Given the description of an element on the screen output the (x, y) to click on. 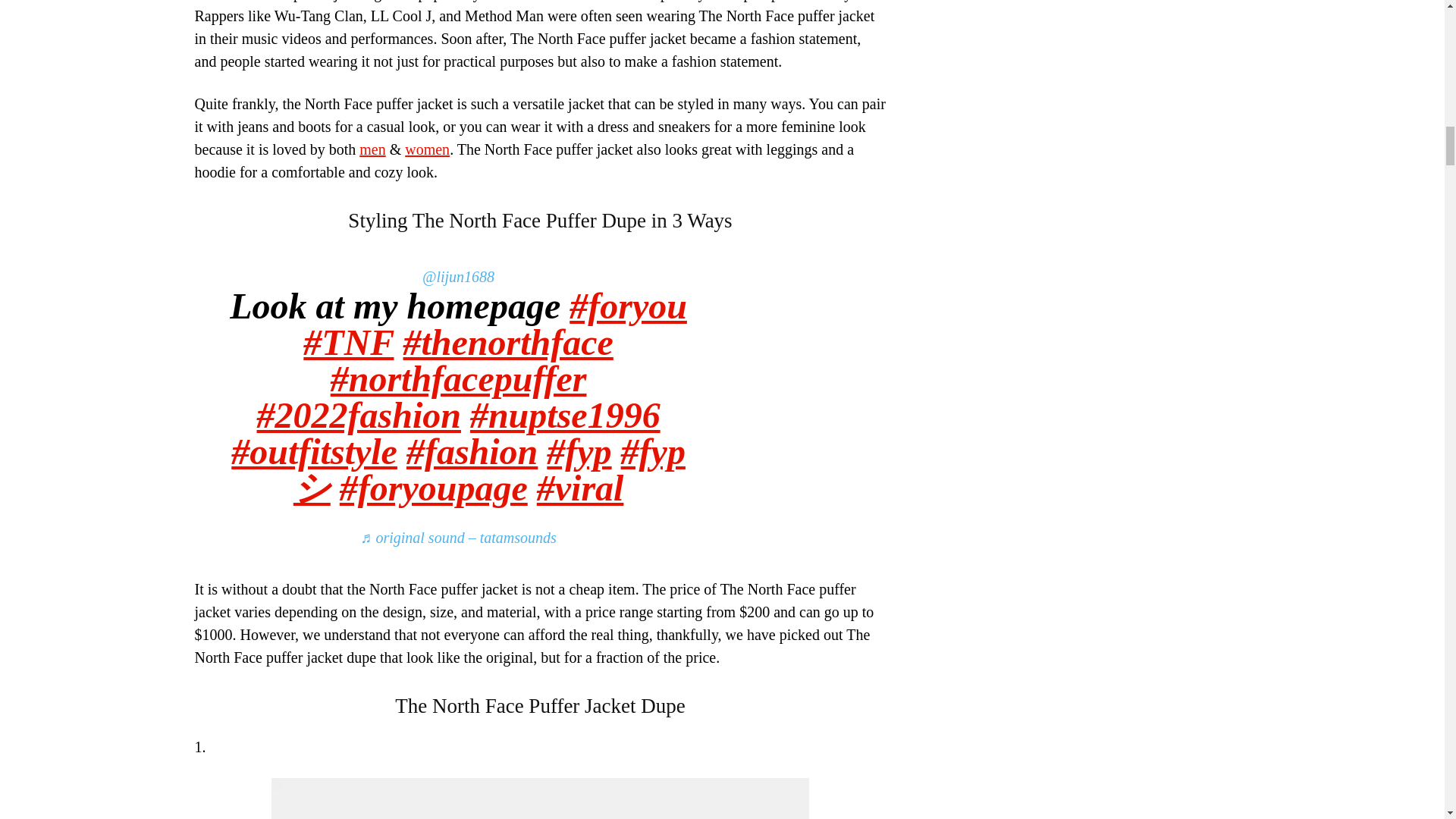
viral (580, 487)
fyp (579, 451)
nuptse1996 (565, 414)
tnf (347, 342)
fashion (471, 451)
northfacepuffer (458, 378)
outfitstyle (314, 451)
2022fashion (359, 414)
foryoupage (433, 487)
thenorthface (507, 342)
